Given the description of an element on the screen output the (x, y) to click on. 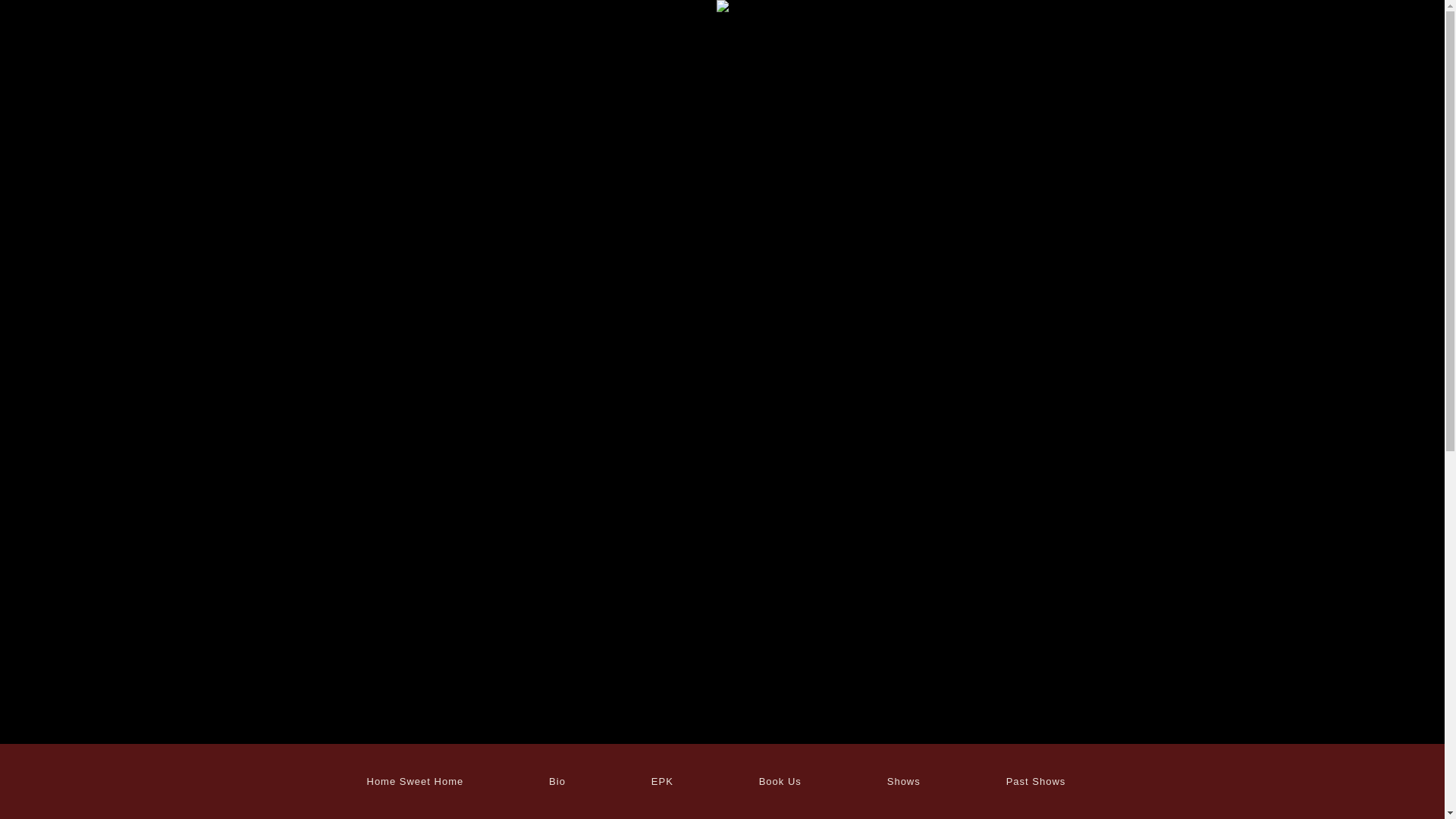
EPK (662, 781)
Book Us (780, 781)
Home Sweet Home (414, 781)
Past Shows (1035, 781)
Shows (903, 781)
